Given the description of an element on the screen output the (x, y) to click on. 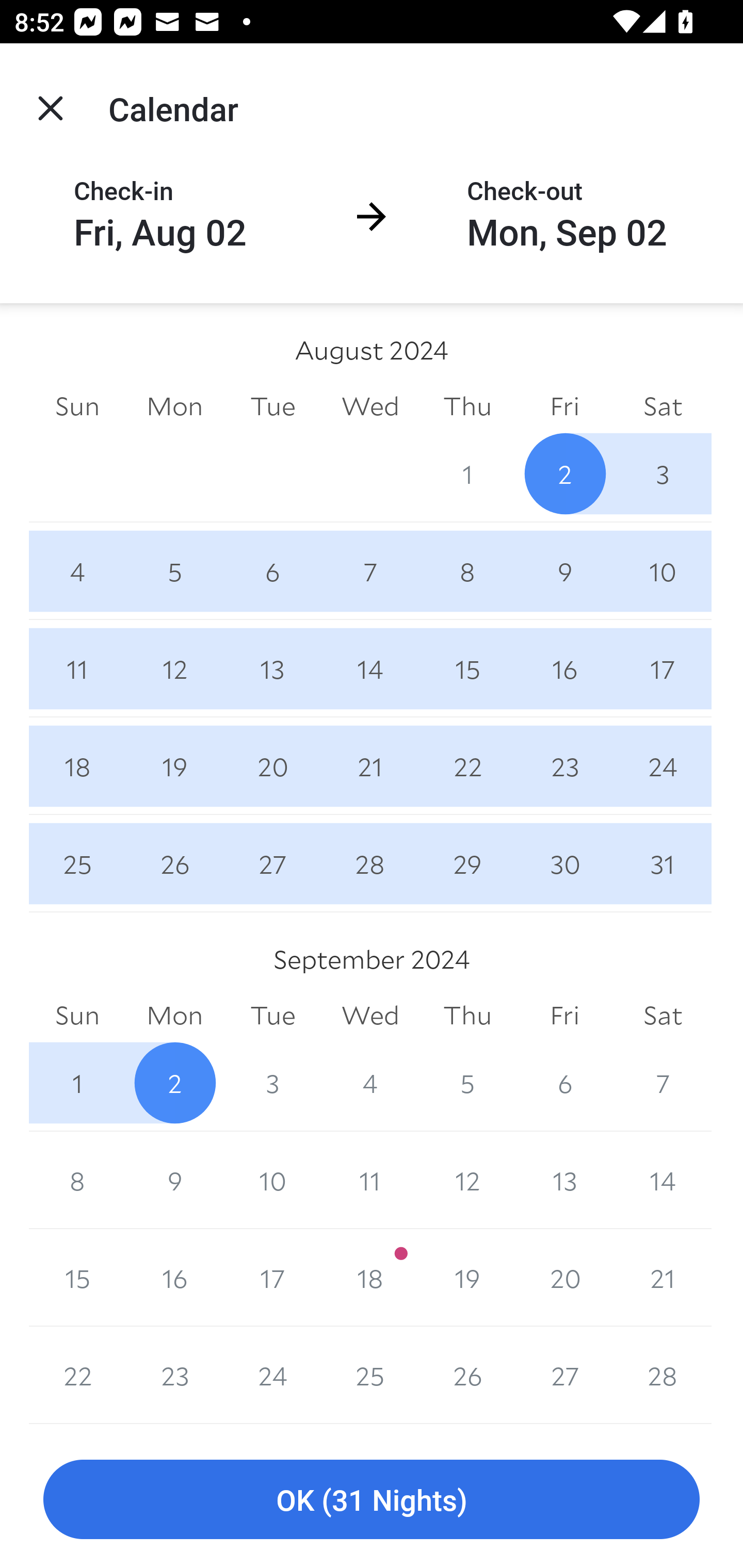
Sun (77, 405)
Mon (174, 405)
Tue (272, 405)
Wed (370, 405)
Thu (467, 405)
Fri (564, 405)
Sat (662, 405)
1 1 August 2024 (467, 473)
2 2 August 2024 (564, 473)
3 3 August 2024 (662, 473)
4 4 August 2024 (77, 570)
5 5 August 2024 (174, 570)
6 6 August 2024 (272, 570)
7 7 August 2024 (370, 570)
8 8 August 2024 (467, 570)
9 9 August 2024 (564, 570)
10 10 August 2024 (662, 570)
11 11 August 2024 (77, 668)
12 12 August 2024 (174, 668)
13 13 August 2024 (272, 668)
14 14 August 2024 (370, 668)
15 15 August 2024 (467, 668)
16 16 August 2024 (564, 668)
17 17 August 2024 (662, 668)
18 18 August 2024 (77, 766)
19 19 August 2024 (174, 766)
20 20 August 2024 (272, 766)
21 21 August 2024 (370, 766)
22 22 August 2024 (467, 766)
23 23 August 2024 (564, 766)
24 24 August 2024 (662, 766)
25 25 August 2024 (77, 863)
26 26 August 2024 (174, 863)
27 27 August 2024 (272, 863)
28 28 August 2024 (370, 863)
29 29 August 2024 (467, 863)
30 30 August 2024 (564, 863)
31 31 August 2024 (662, 863)
Sun (77, 1015)
Mon (174, 1015)
Tue (272, 1015)
Wed (370, 1015)
Thu (467, 1015)
Fri (564, 1015)
Sat (662, 1015)
1 1 September 2024 (77, 1083)
2 2 September 2024 (174, 1083)
3 3 September 2024 (272, 1083)
4 4 September 2024 (370, 1083)
5 5 September 2024 (467, 1083)
6 6 September 2024 (564, 1083)
7 7 September 2024 (662, 1083)
8 8 September 2024 (77, 1180)
9 9 September 2024 (174, 1180)
10 10 September 2024 (272, 1180)
11 11 September 2024 (370, 1180)
12 12 September 2024 (467, 1180)
13 13 September 2024 (564, 1180)
14 14 September 2024 (662, 1180)
15 15 September 2024 (77, 1277)
16 16 September 2024 (174, 1277)
17 17 September 2024 (272, 1277)
18 18 September 2024 (370, 1277)
19 19 September 2024 (467, 1277)
20 20 September 2024 (564, 1277)
21 21 September 2024 (662, 1277)
22 22 September 2024 (77, 1374)
23 23 September 2024 (174, 1374)
24 24 September 2024 (272, 1374)
25 25 September 2024 (370, 1374)
26 26 September 2024 (467, 1374)
27 27 September 2024 (564, 1374)
28 28 September 2024 (662, 1374)
OK (31 Nights) (371, 1499)
